Given the description of an element on the screen output the (x, y) to click on. 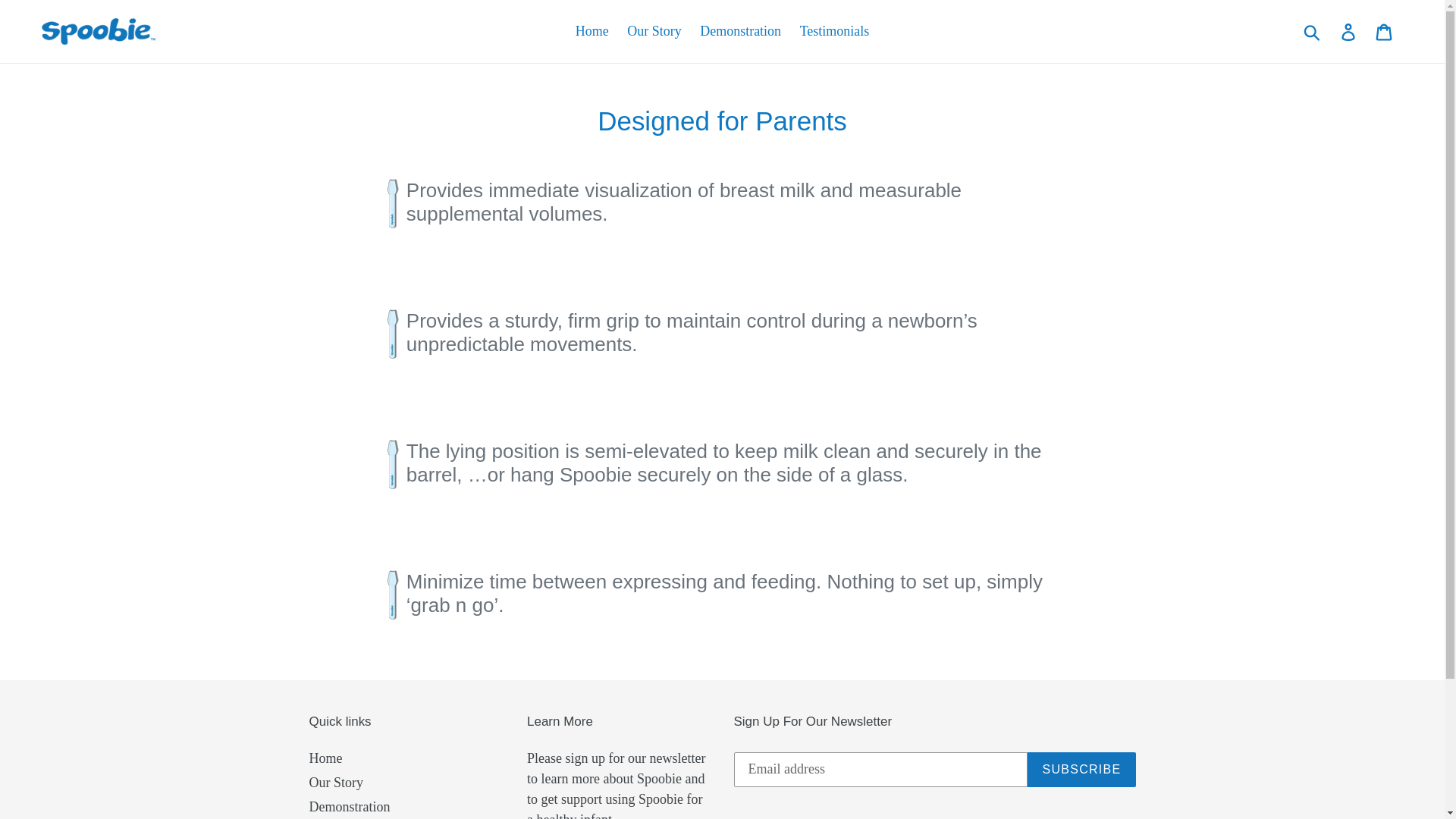
Cart (1385, 31)
Demonstration (349, 806)
Home (325, 758)
SUBSCRIBE (1081, 769)
Submit (1313, 31)
Our Story (654, 31)
Testimonials (834, 31)
Home (591, 31)
Demonstration (741, 31)
Log in (1349, 31)
